Given the description of an element on the screen output the (x, y) to click on. 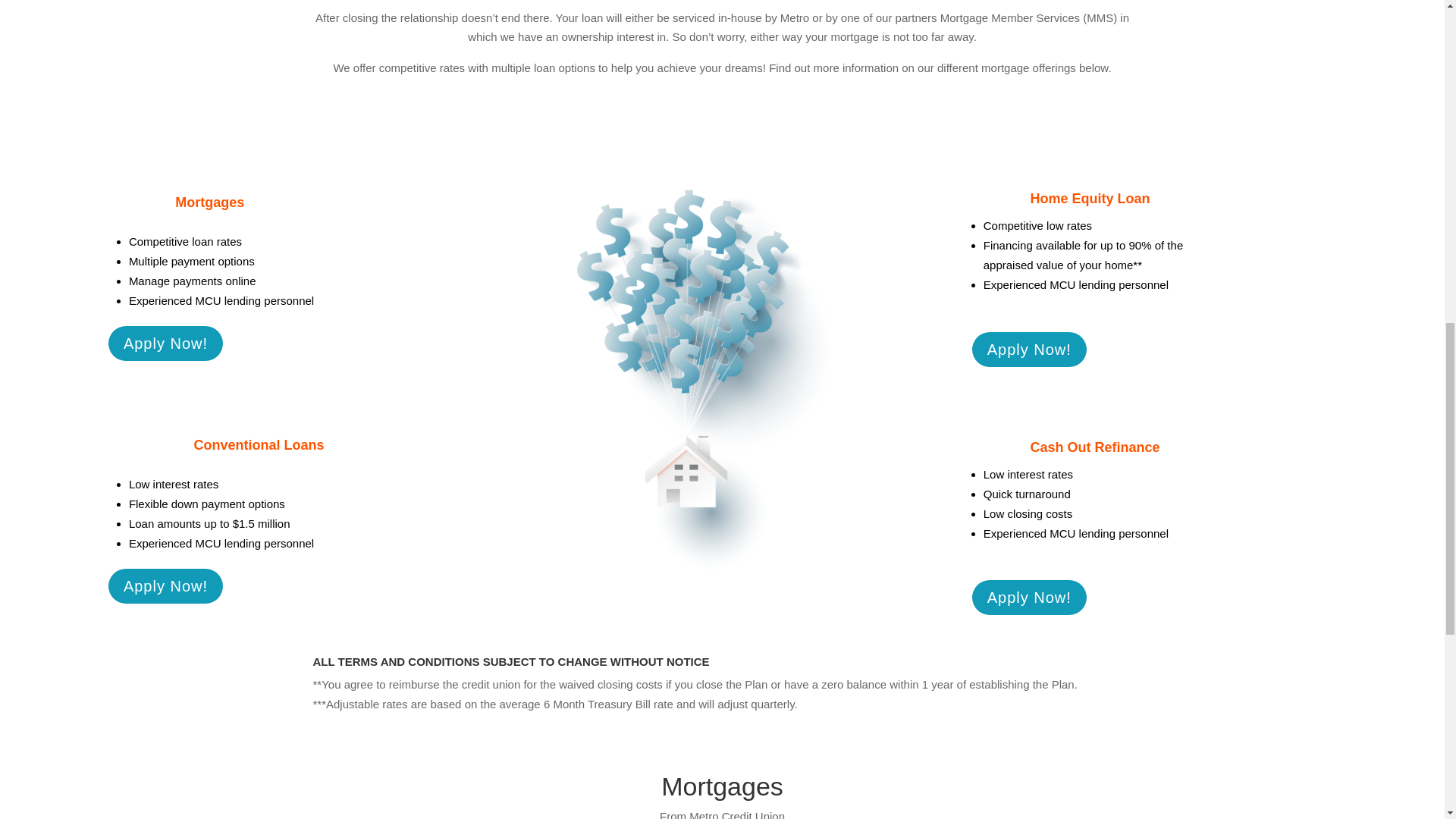
loan rates (216, 241)
Apply Now! (164, 343)
Apply Now! (164, 585)
rates (1060, 473)
Metro Credit Union (736, 814)
Apply Now! (1029, 597)
interest rates (185, 483)
low rates (1069, 225)
6 Month Treasury Bill (596, 703)
Manage payments online (192, 280)
Apply Now! (1029, 349)
